Given the description of an element on the screen output the (x, y) to click on. 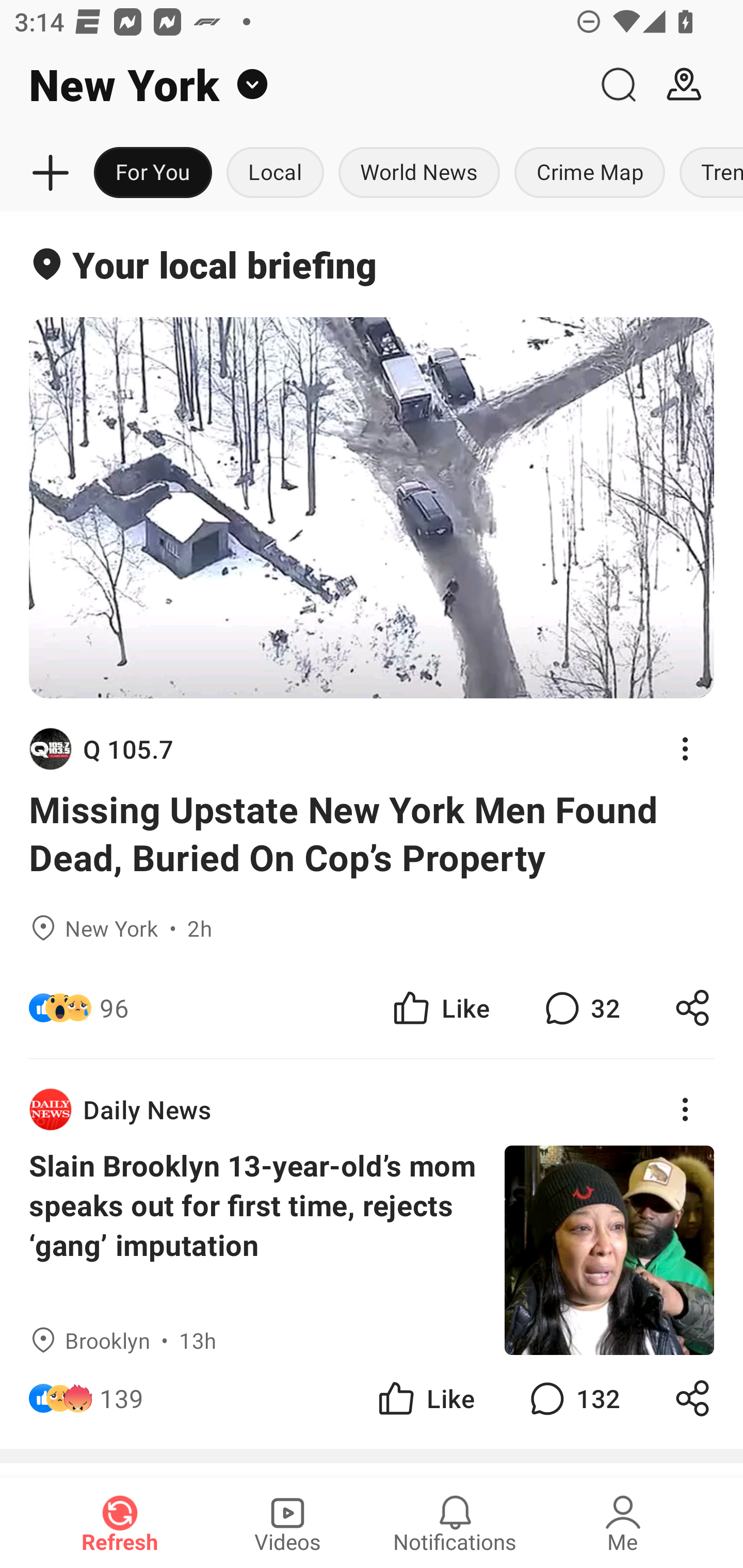
New York (292, 84)
For You (152, 172)
Local (275, 172)
World News (419, 172)
Crime Map (589, 172)
96 (113, 1007)
Like (439, 1007)
32 (579, 1007)
139 (121, 1397)
Like (425, 1397)
132 (572, 1397)
Videos (287, 1522)
Notifications (455, 1522)
Me (622, 1522)
